Given the description of an element on the screen output the (x, y) to click on. 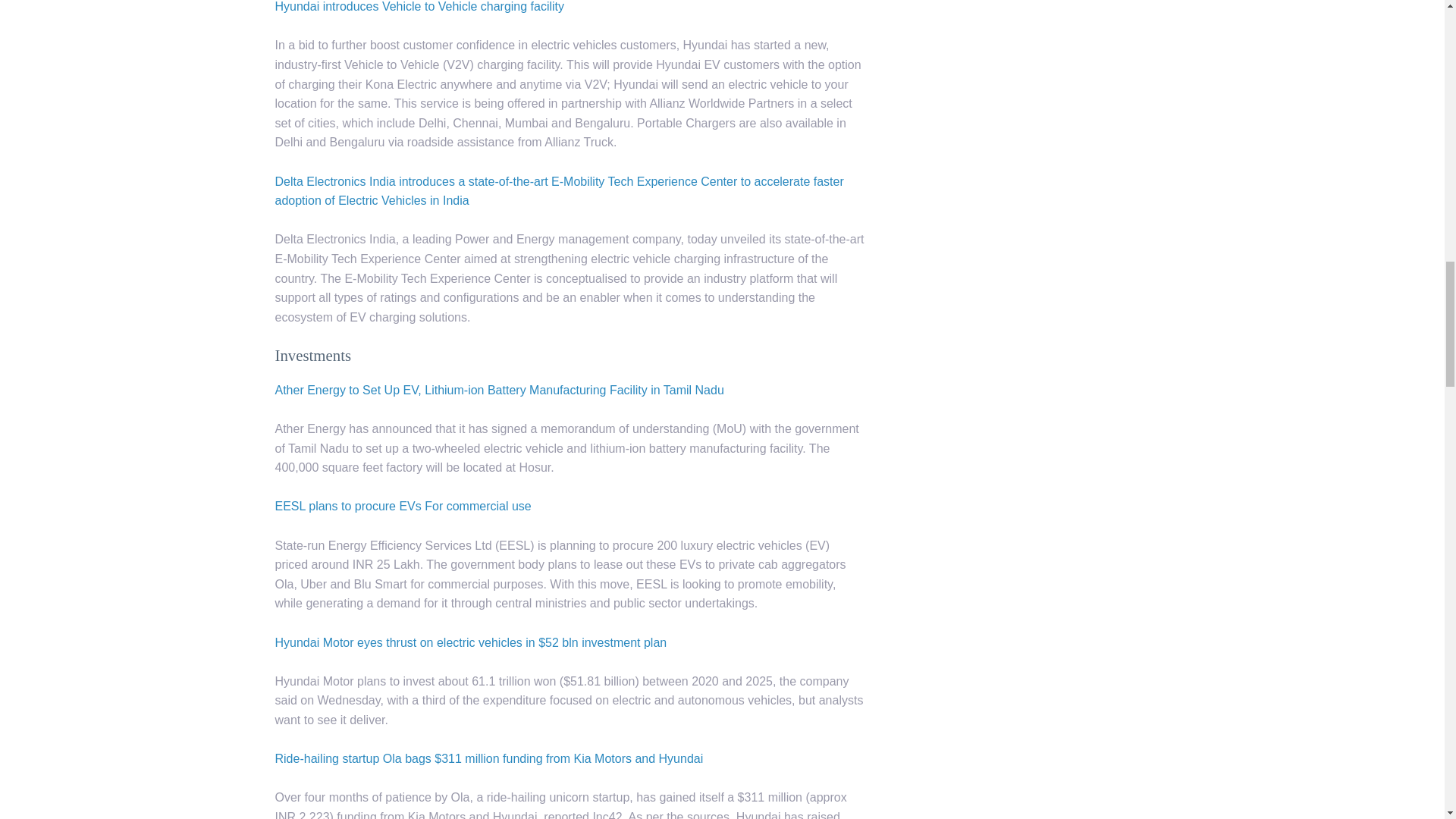
EESL plans to procure EVs For commercial use (403, 505)
Hyundai introduces Vehicle to Vehicle charging facility (419, 6)
